Given the description of an element on the screen output the (x, y) to click on. 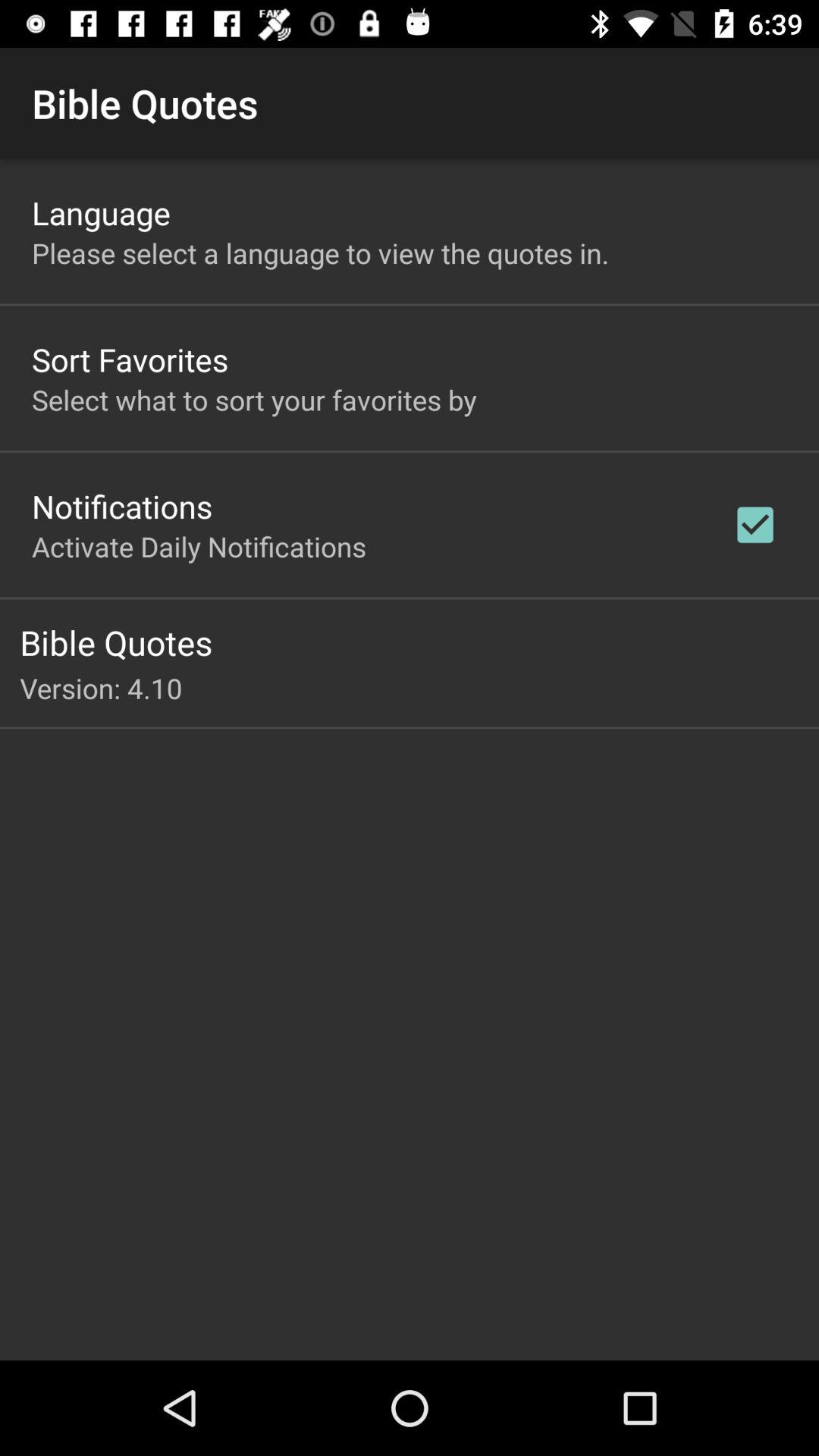
flip to activate daily notifications icon (198, 546)
